Given the description of an element on the screen output the (x, y) to click on. 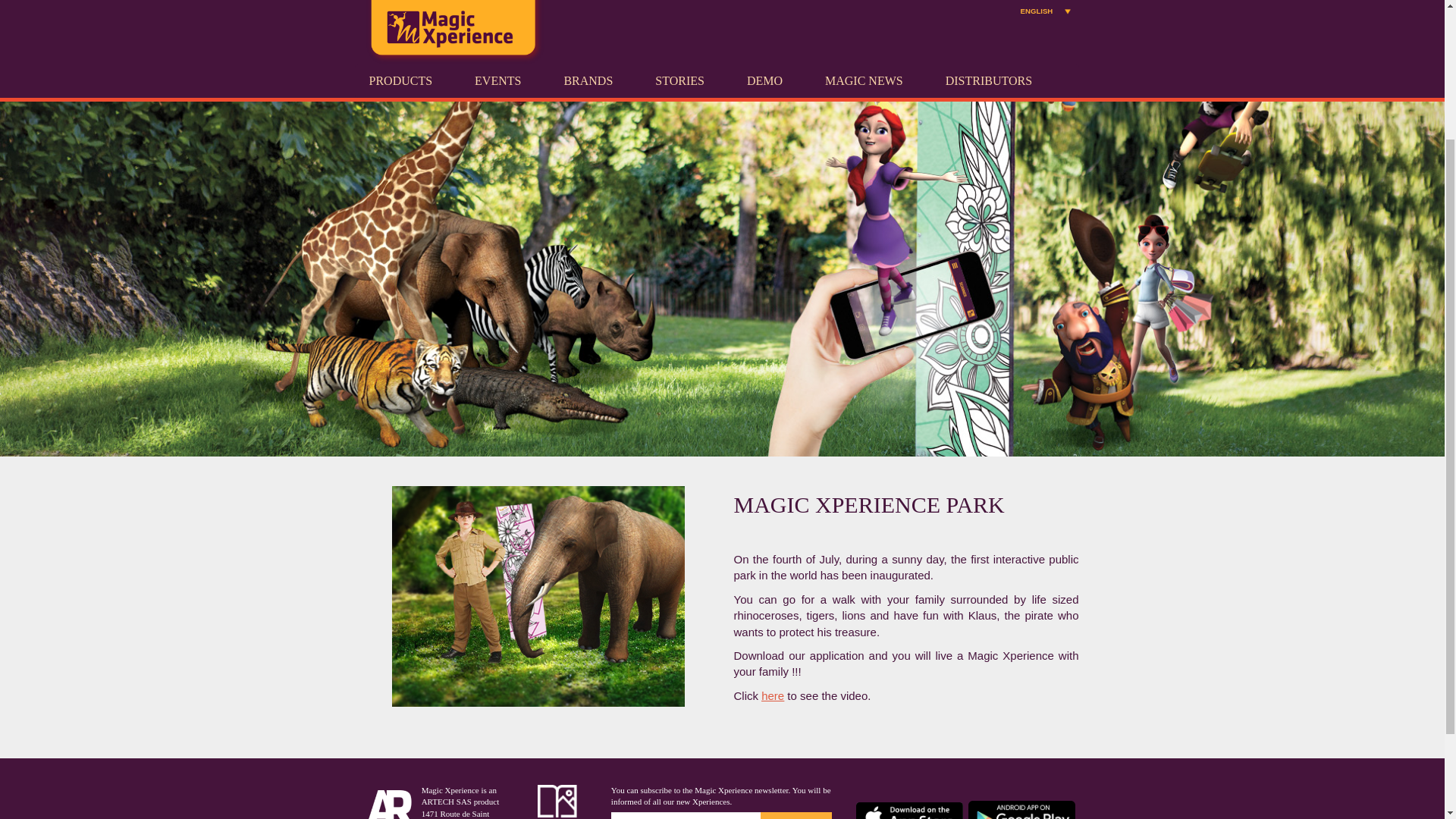
here (772, 695)
